Given the description of an element on the screen output the (x, y) to click on. 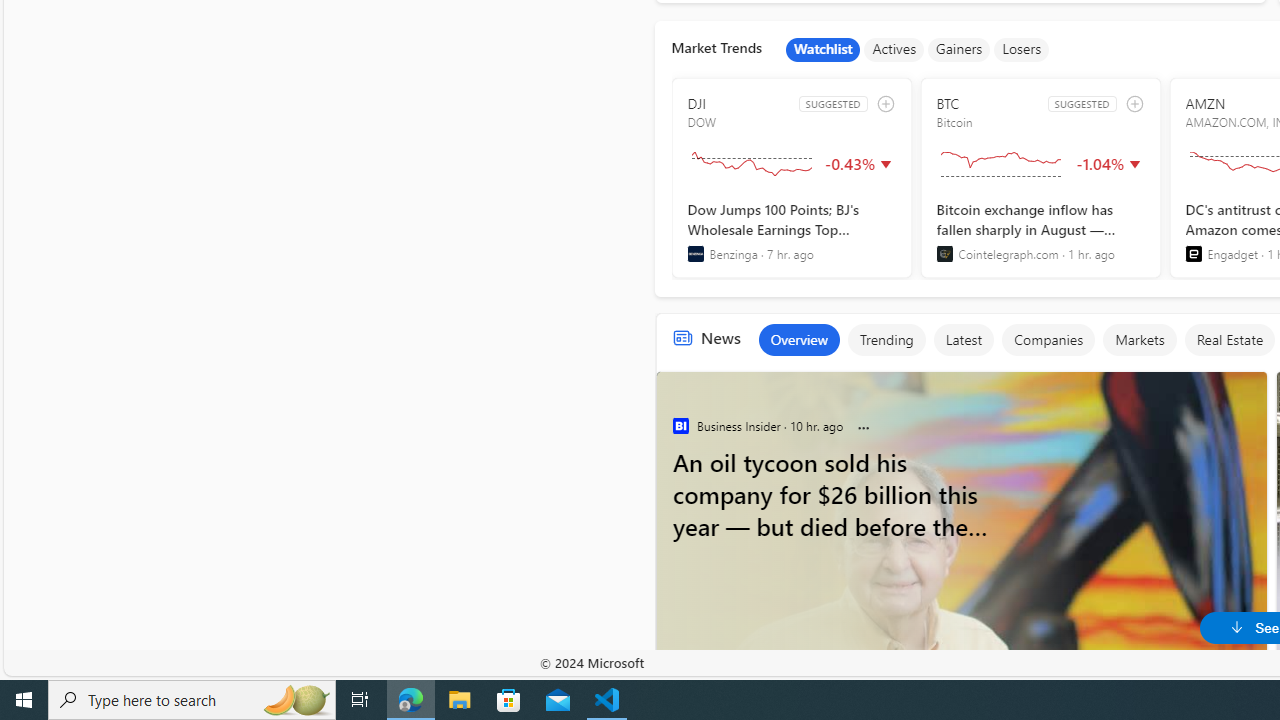
DJI SUGGESTED DOW (791, 178)
Companies (1047, 339)
Business Insider (680, 426)
Dow Jumps 100 Points; BJ's Wholesale Earnings Top Estimates (791, 231)
Watchlist (823, 49)
Trending (886, 339)
Real Estate (1229, 339)
Latest (963, 339)
Engadget (1193, 254)
Benzinga (695, 254)
